Given the description of an element on the screen output the (x, y) to click on. 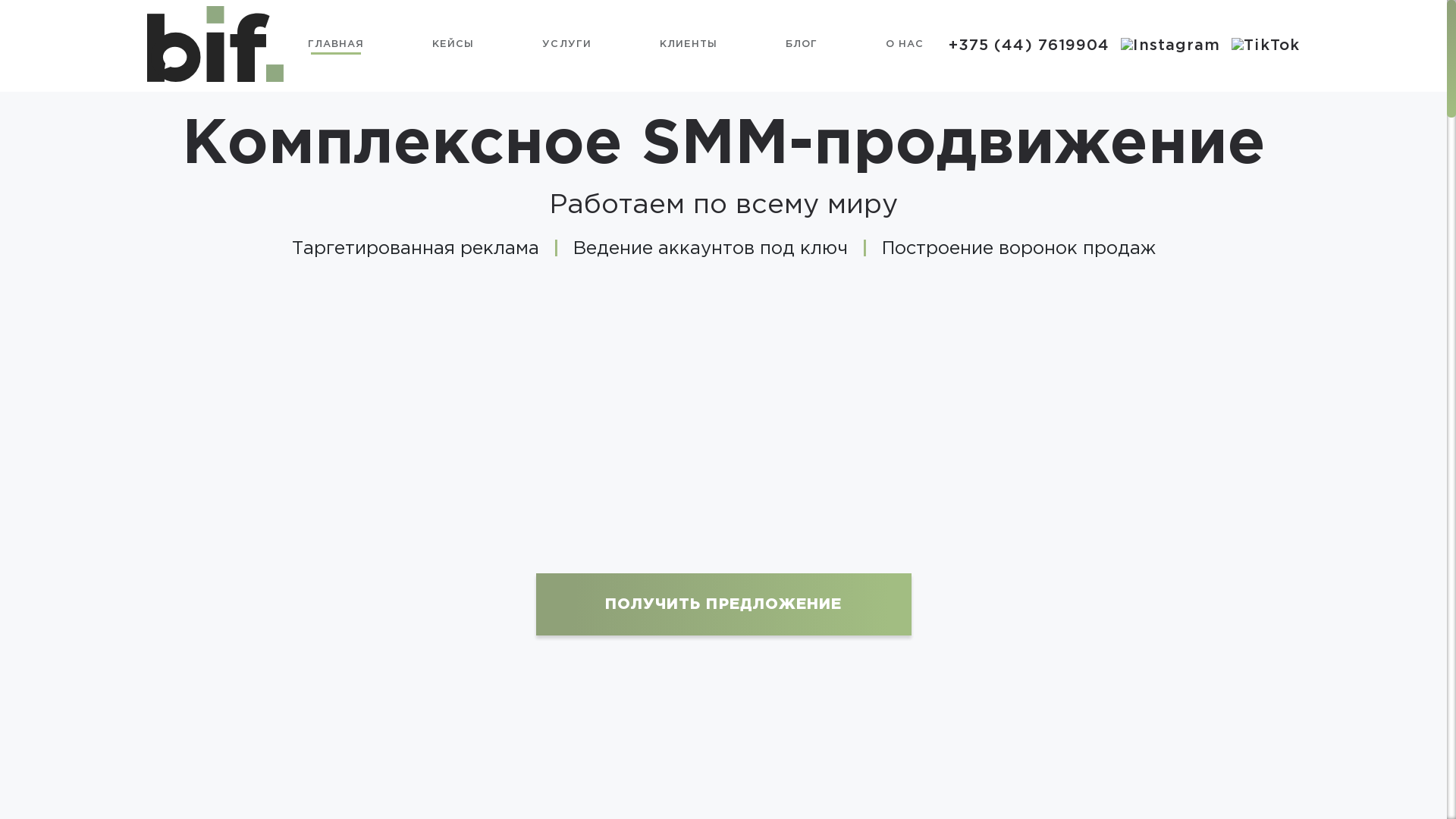
Instagram Element type: hover (1170, 45)
TikTok Element type: hover (1265, 45)
+375 (44) 7619904 Element type: text (1029, 45)
